Given the description of an element on the screen output the (x, y) to click on. 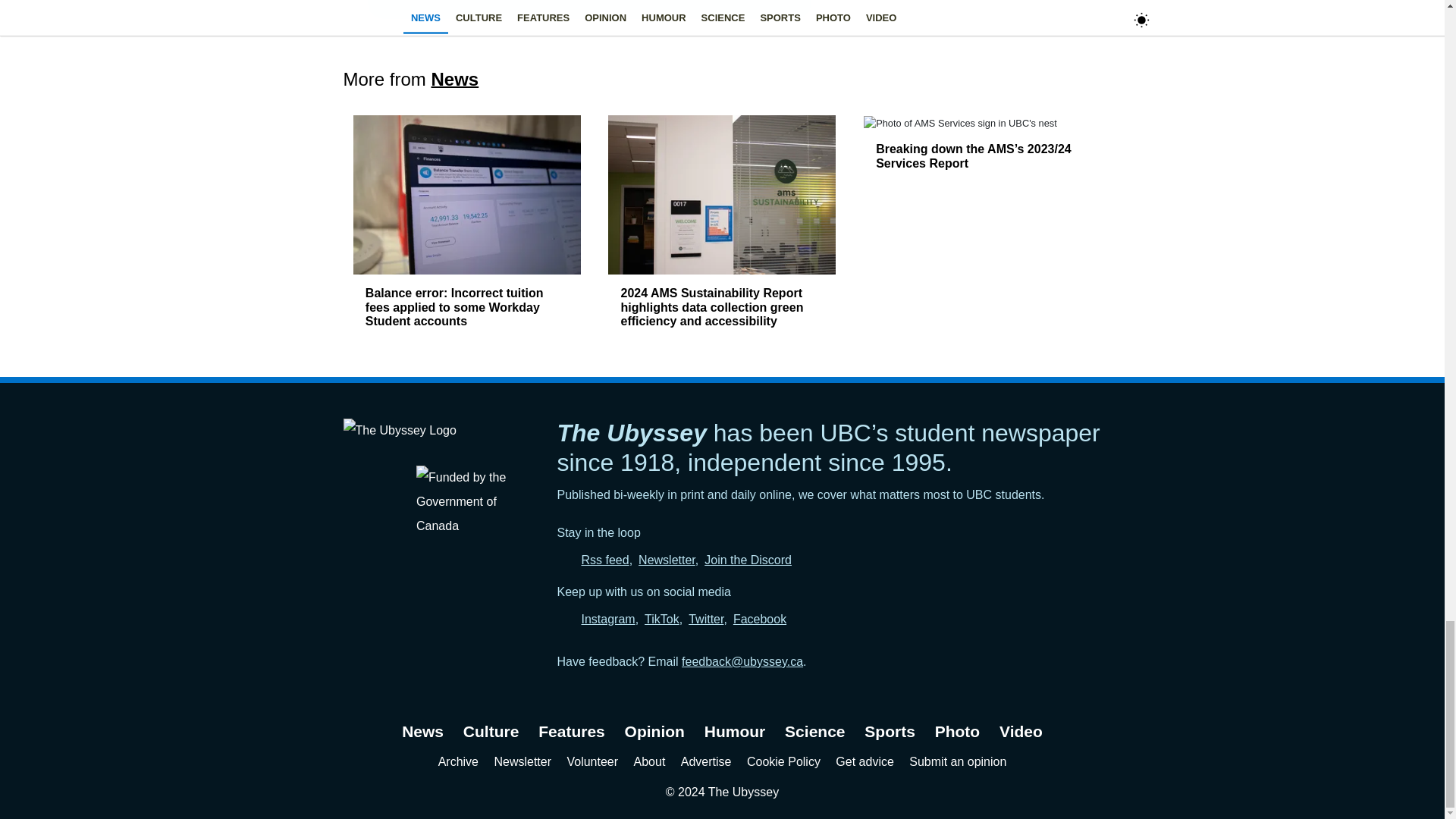
The Ubyssey on Instagram (607, 618)
Email address for feedback (742, 661)
Discord link (748, 559)
The Ubyssey on Tiktok (662, 618)
Rss feed (604, 559)
The Ubyssey on Facebook (759, 618)
The Ubyssey on Twitter (705, 618)
Newsletter (667, 559)
